Given the description of an element on the screen output the (x, y) to click on. 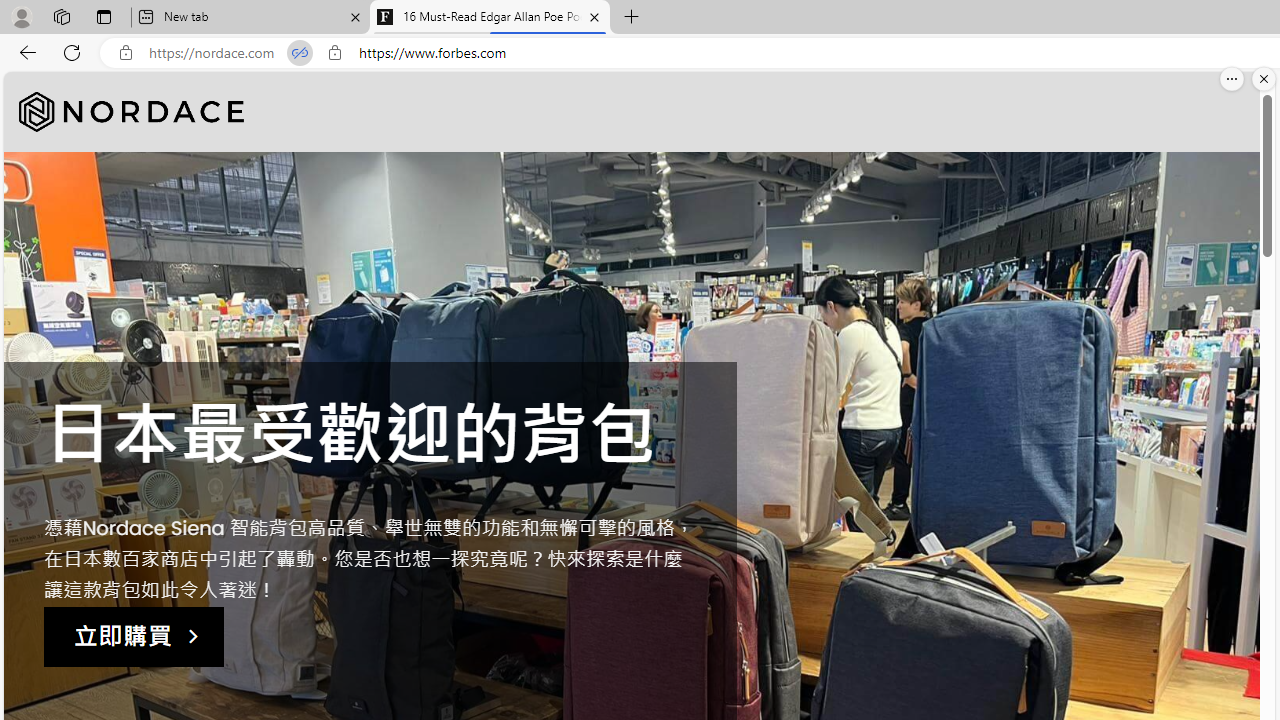
Workspaces (61, 16)
Refresh (72, 52)
Close split screen. (1264, 79)
New Tab (632, 17)
Tab actions menu (104, 16)
Personal Profile (21, 16)
More options. (1232, 79)
View site information (334, 53)
Tabs in split screen (299, 53)
Back (24, 52)
New tab (250, 17)
Close tab (594, 16)
Nordace (131, 111)
16 Must-Read Edgar Allan Poe Poems And Short Stories (490, 17)
